Given the description of an element on the screen output the (x, y) to click on. 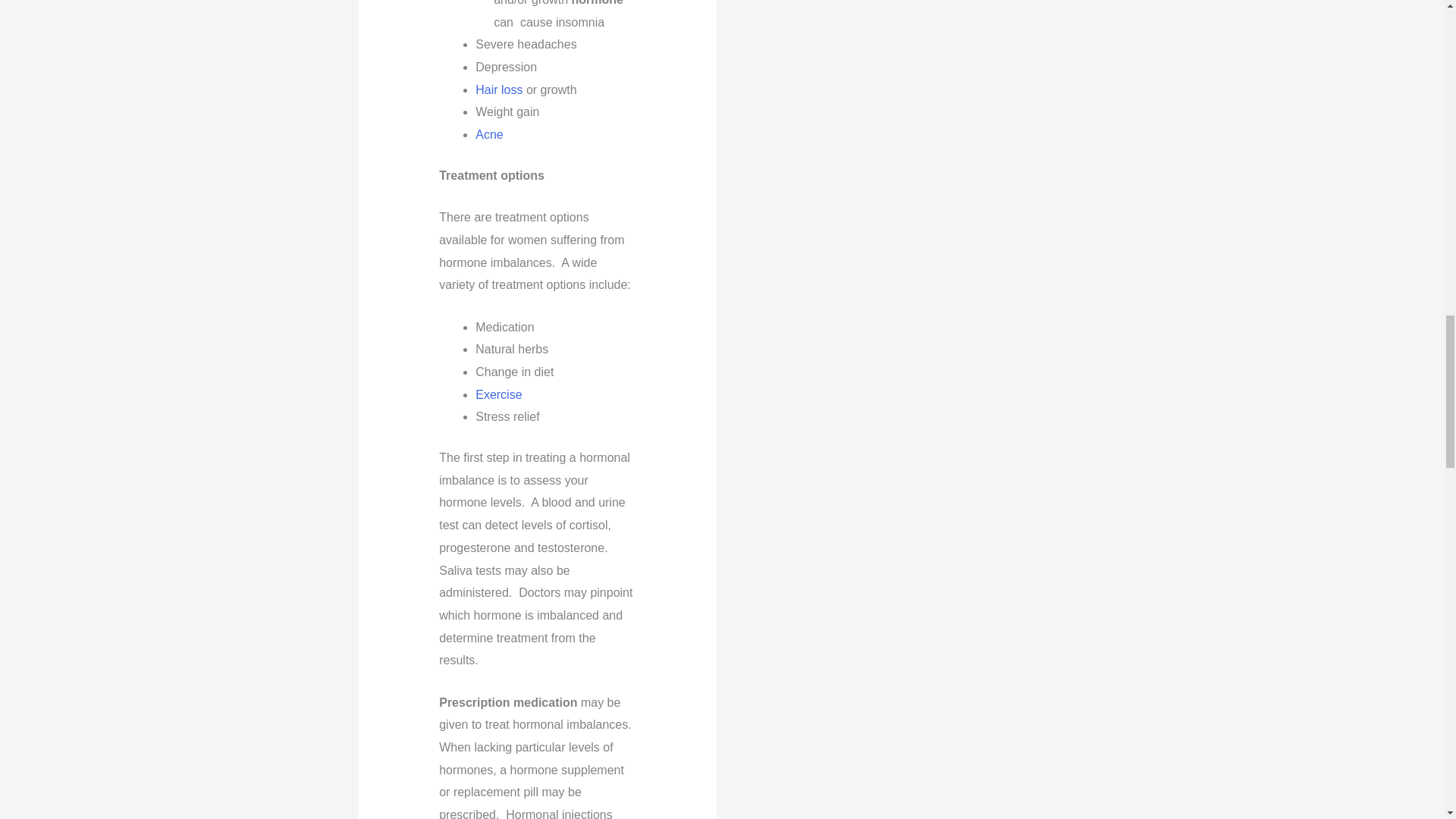
Acne (489, 133)
Hair loss (499, 89)
Exercise (498, 394)
